Given the description of an element on the screen output the (x, y) to click on. 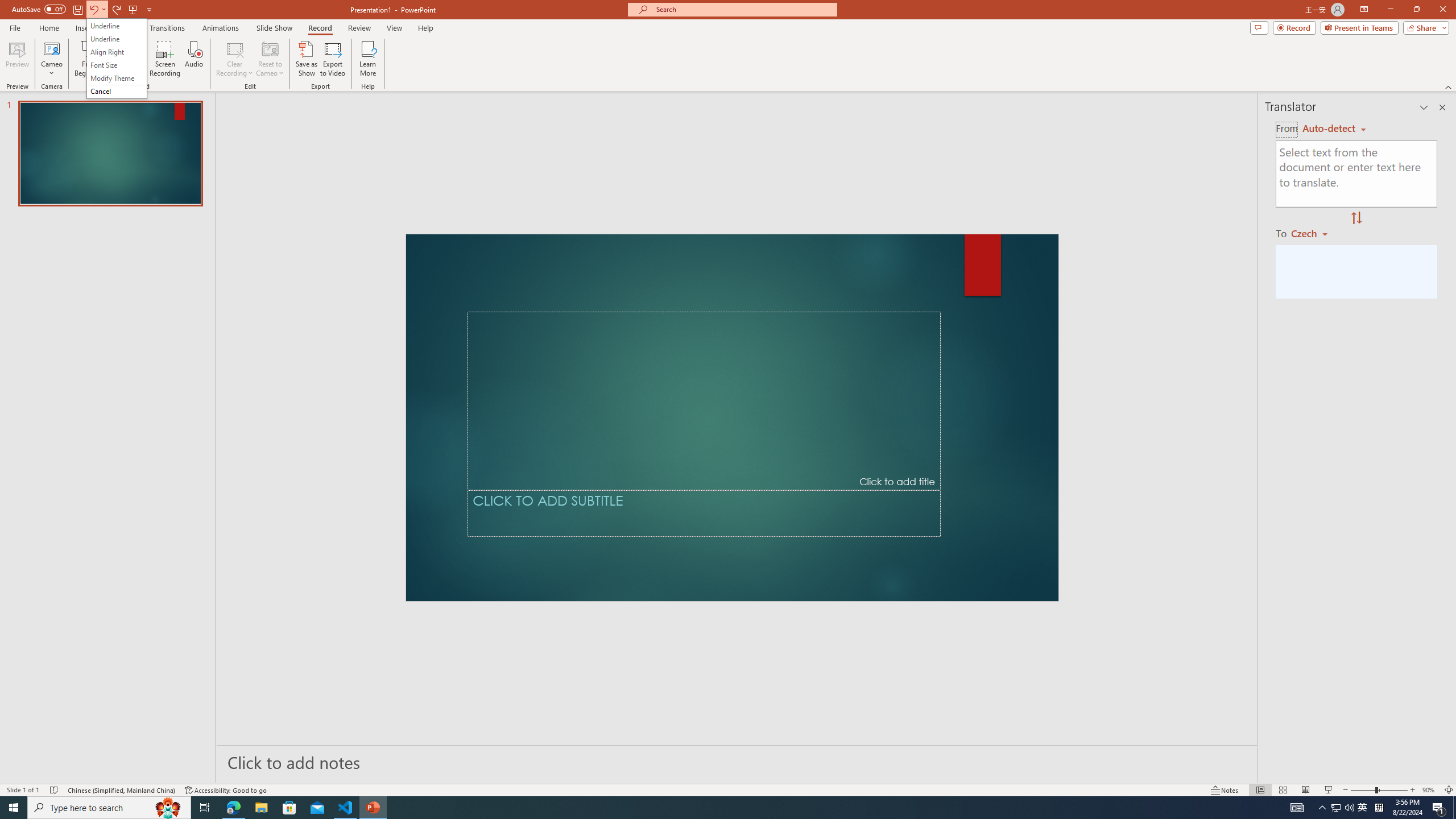
Subtitle TextBox (703, 513)
Reset to Cameo (269, 58)
Czech (1313, 232)
